Given the description of an element on the screen output the (x, y) to click on. 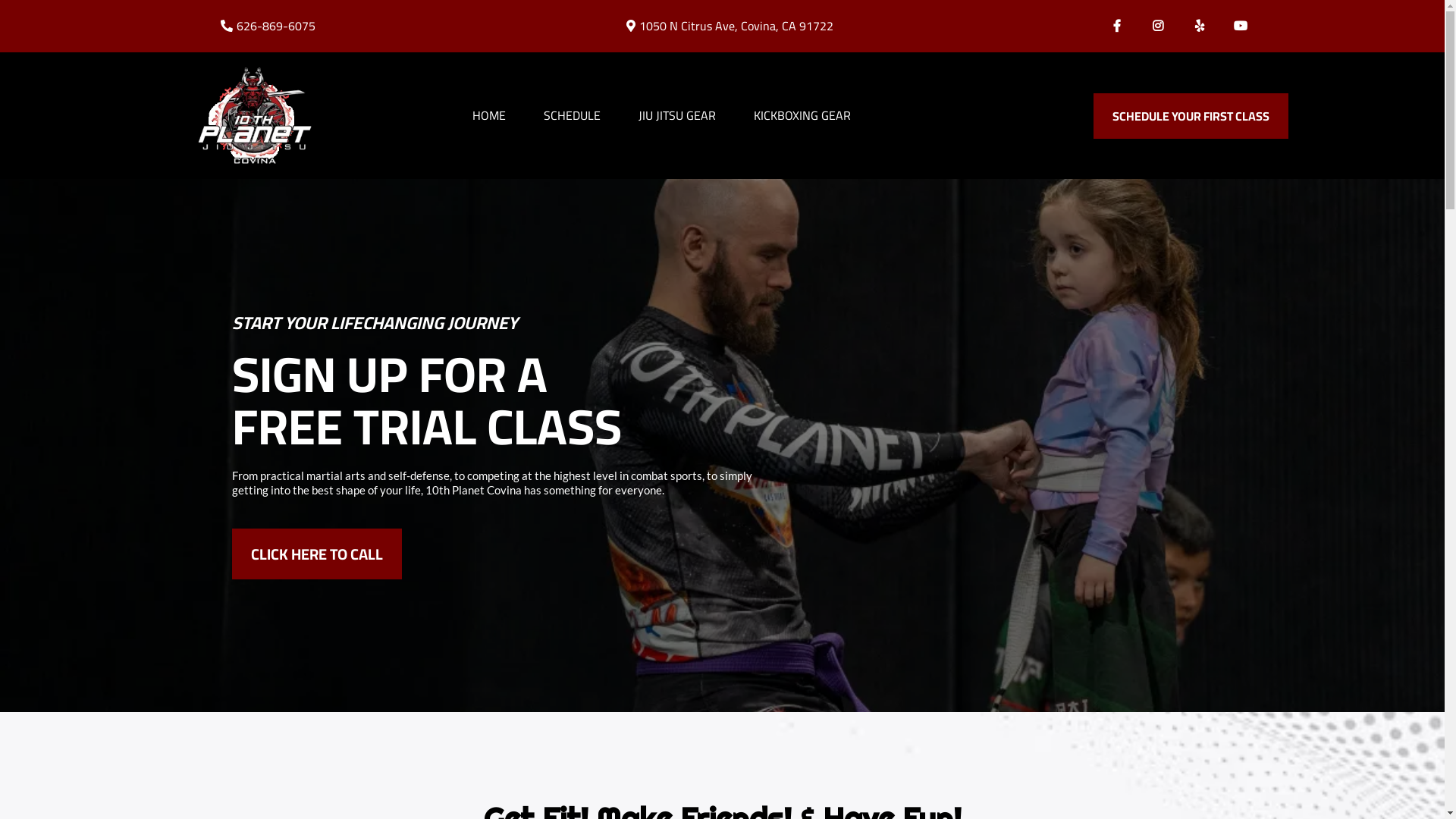
SCHEDULE YOUR FIRST CLASS Element type: text (1190, 115)
626-869-6075 Element type: text (275, 25)
JIU JITSU GEAR Element type: text (676, 115)
CLICK HERE TO CALL Element type: text (316, 552)
KICKBOXING GEAR Element type: text (801, 115)
SCHEDULE Element type: text (571, 115)
HOME Element type: text (488, 115)
1050 N Citrus Ave, Covina, CA 91722 Element type: text (736, 25)
